Given the description of an element on the screen output the (x, y) to click on. 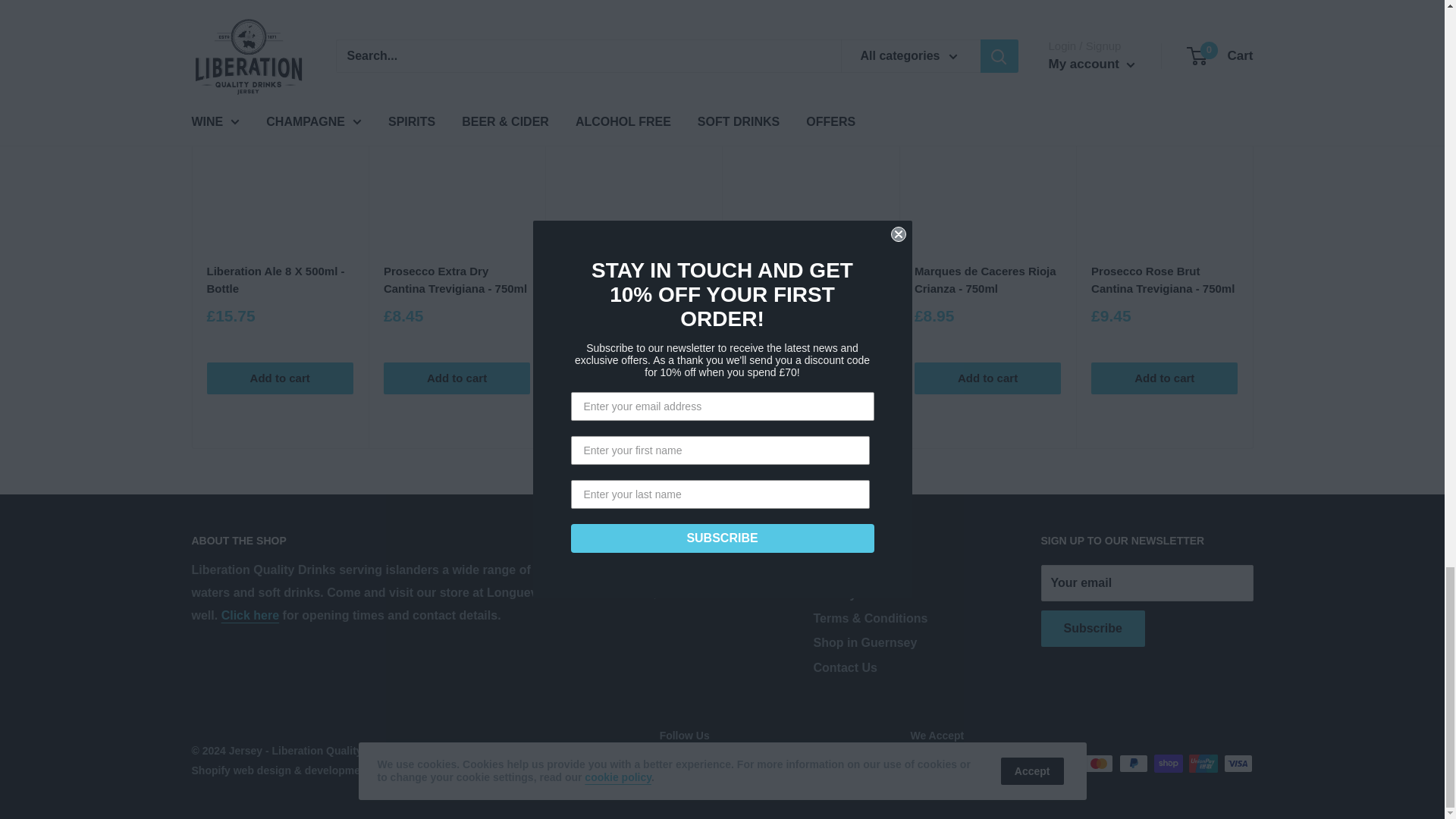
Contact Us (250, 615)
